Given the description of an element on the screen output the (x, y) to click on. 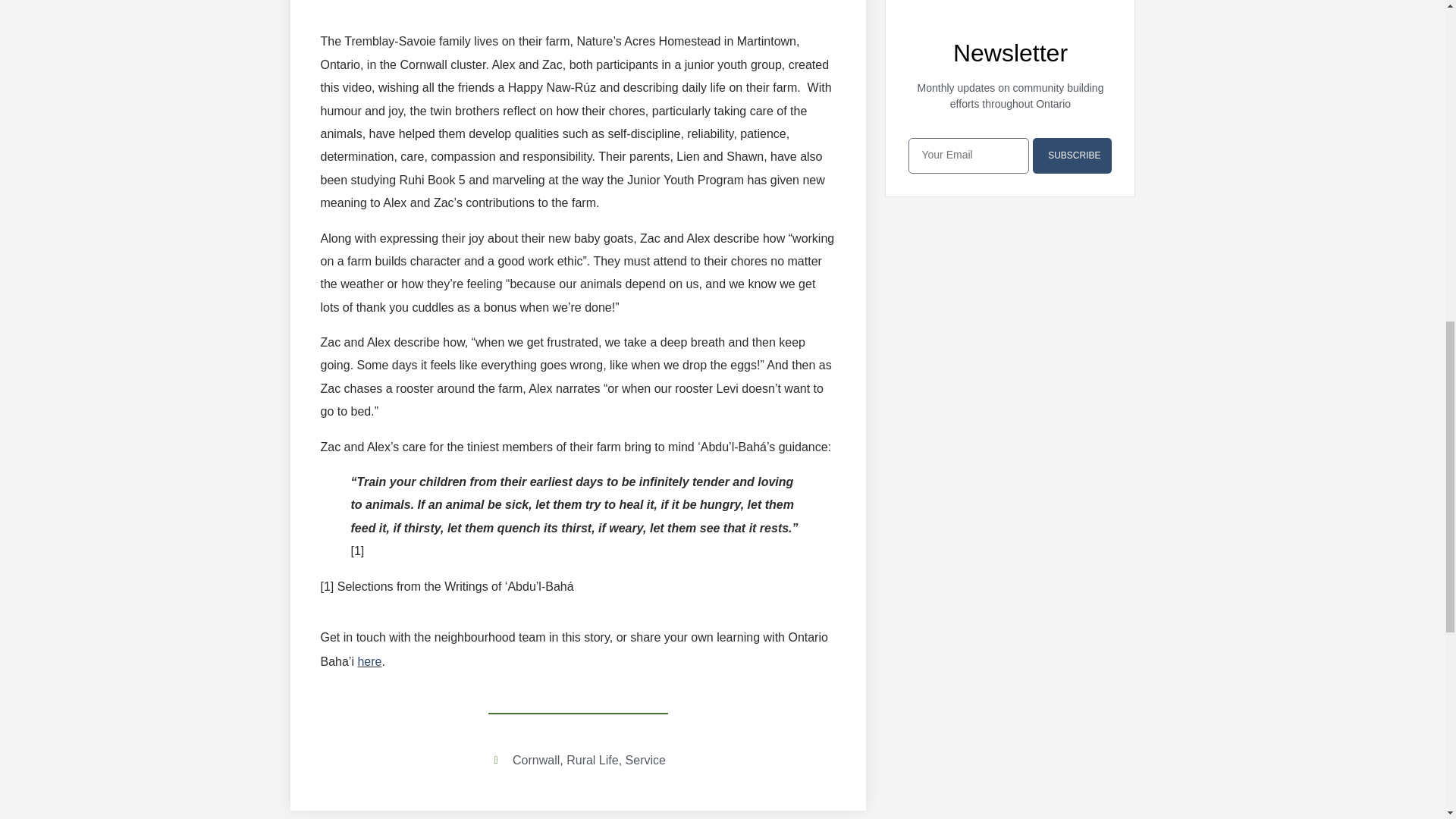
Developing virtues on a farm (577, 5)
